Given the description of an element on the screen output the (x, y) to click on. 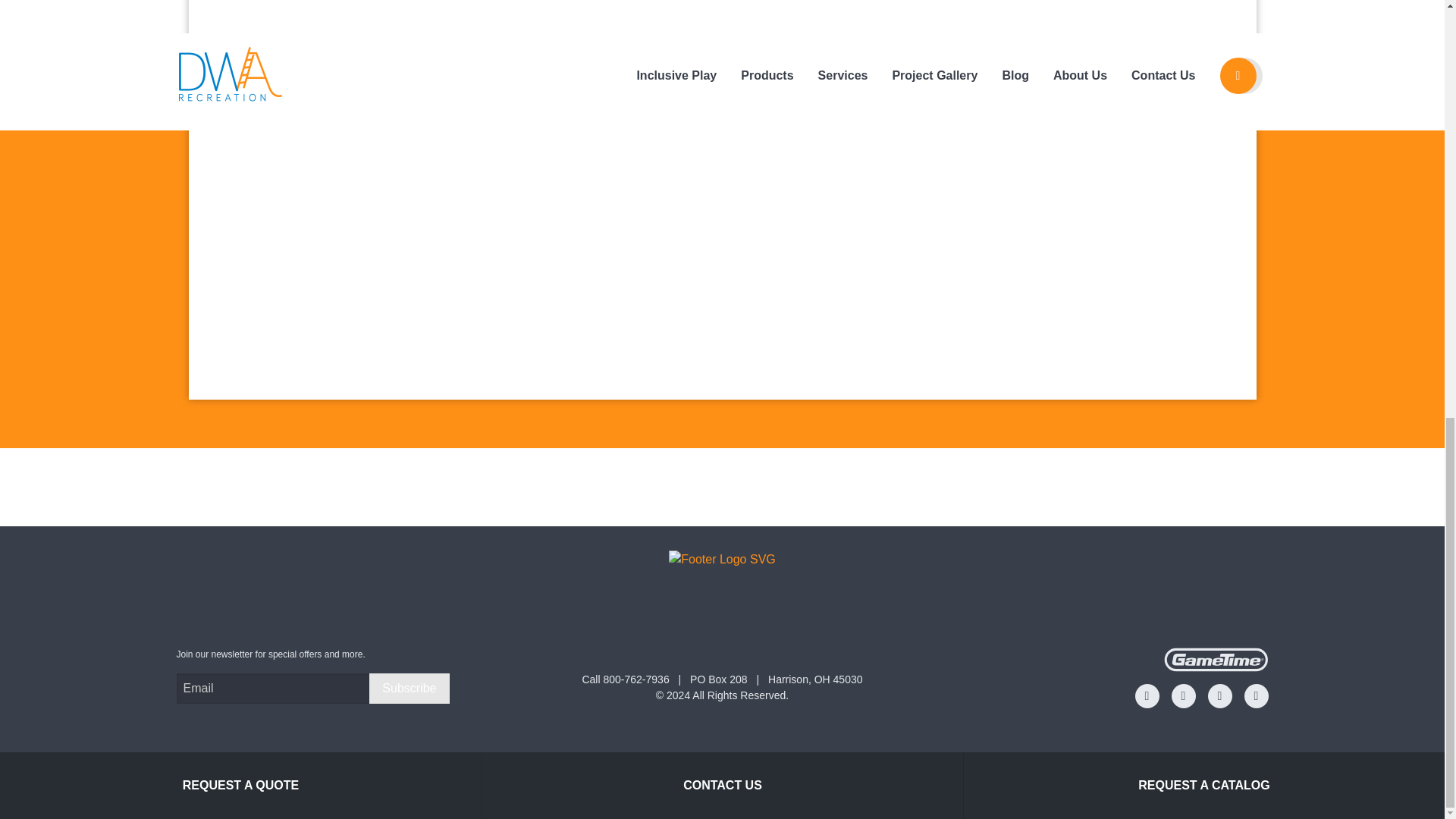
Subscribe (408, 688)
